Given the description of an element on the screen output the (x, y) to click on. 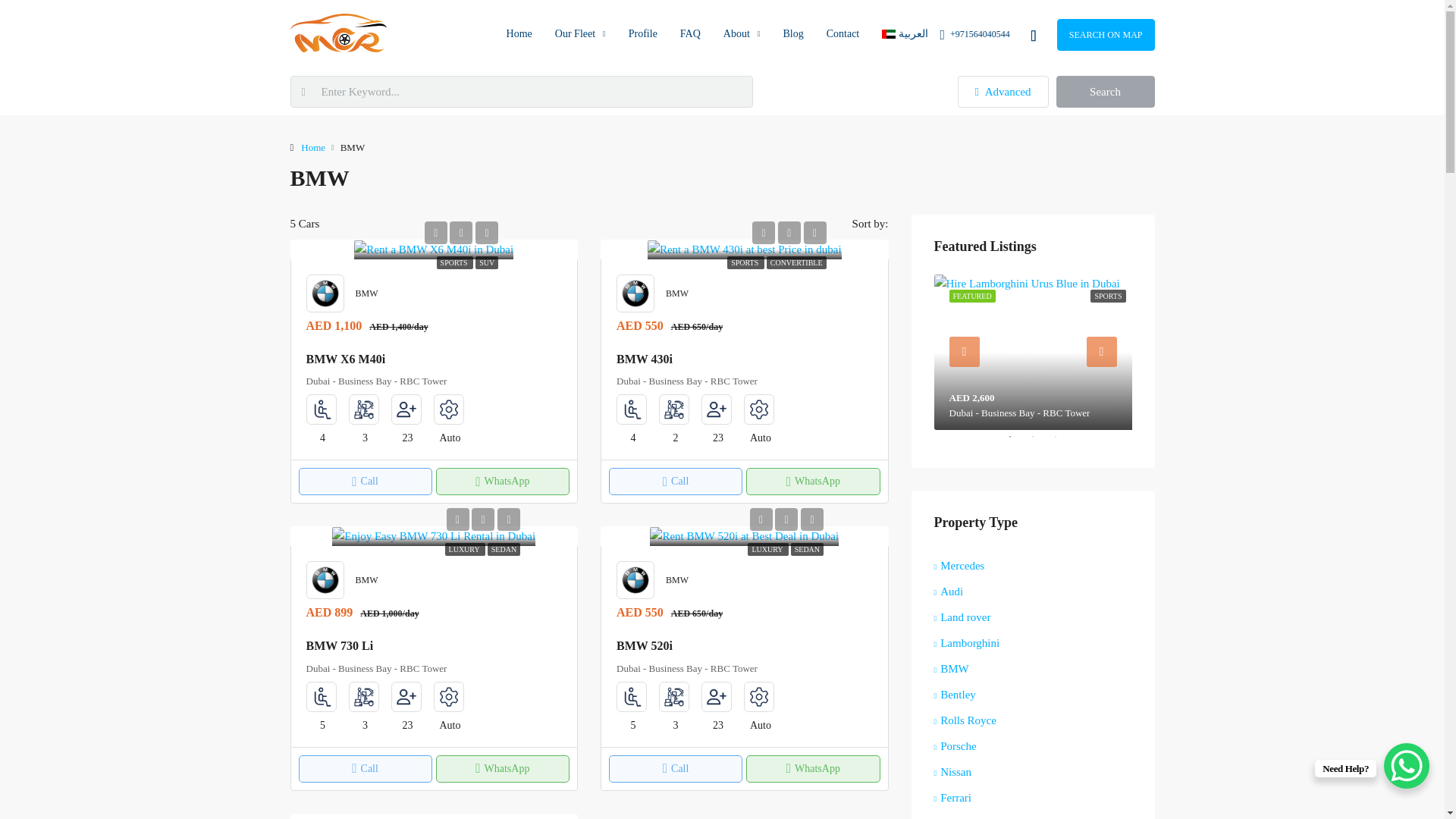
BMW X6 M40i (433, 249)
